Given the description of an element on the screen output the (x, y) to click on. 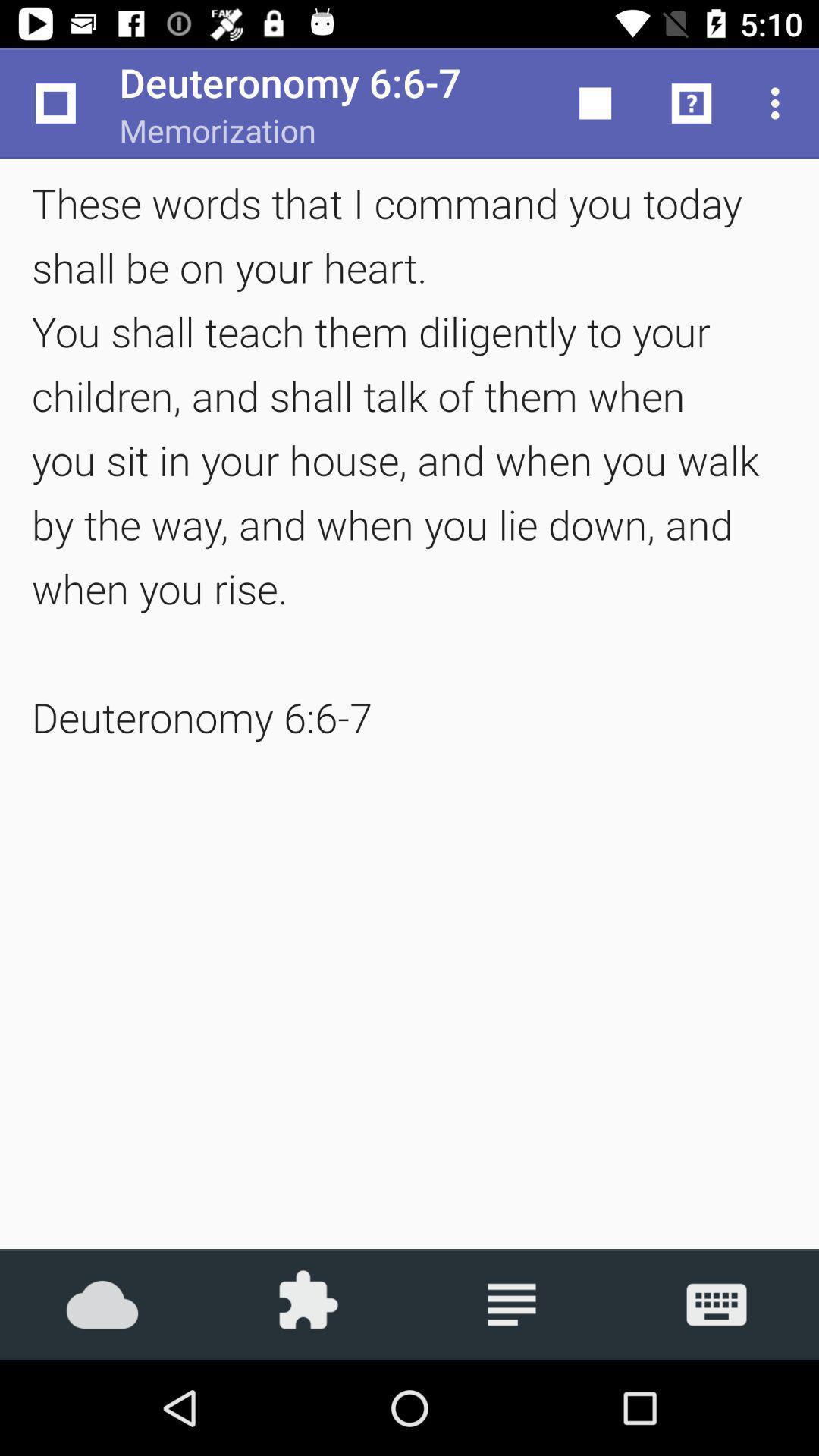
launch the app next to memorization item (55, 103)
